Given the description of an element on the screen output the (x, y) to click on. 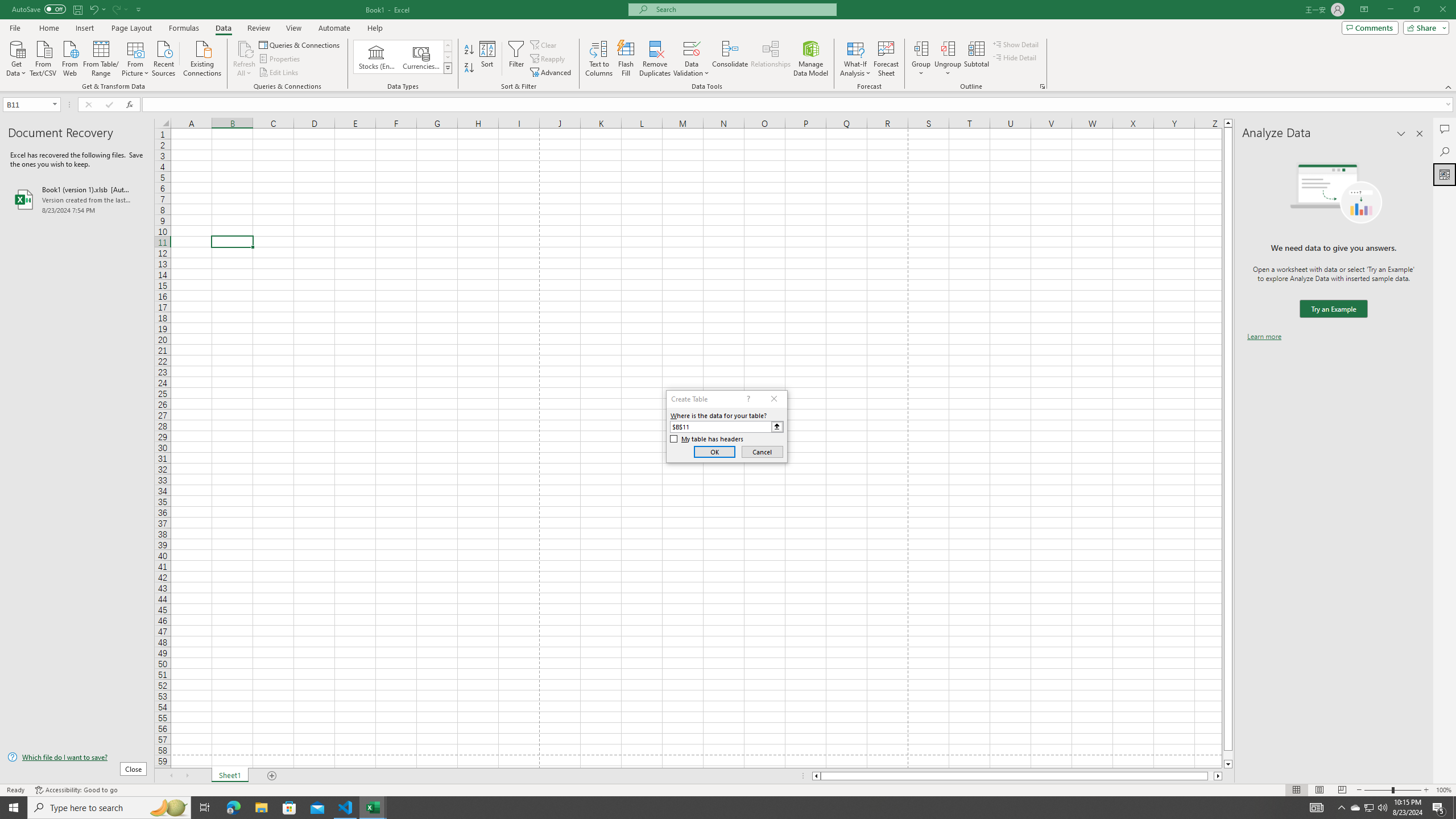
Redo (115, 9)
Sheet1 (229, 775)
Redo (119, 9)
Remove Duplicates (654, 58)
Book1 (version 1).xlsb  [AutoRecovered] (77, 199)
Share (1423, 27)
Page down (1228, 755)
Accessibility Checker Accessibility: Good to go (76, 790)
Ungroup... (947, 48)
Stocks (English) (375, 56)
From Text/CSV (43, 57)
Search (1444, 151)
Learn more (1264, 336)
Open (54, 104)
We need data to give you answers. Try an Example (1333, 308)
